Given the description of an element on the screen output the (x, y) to click on. 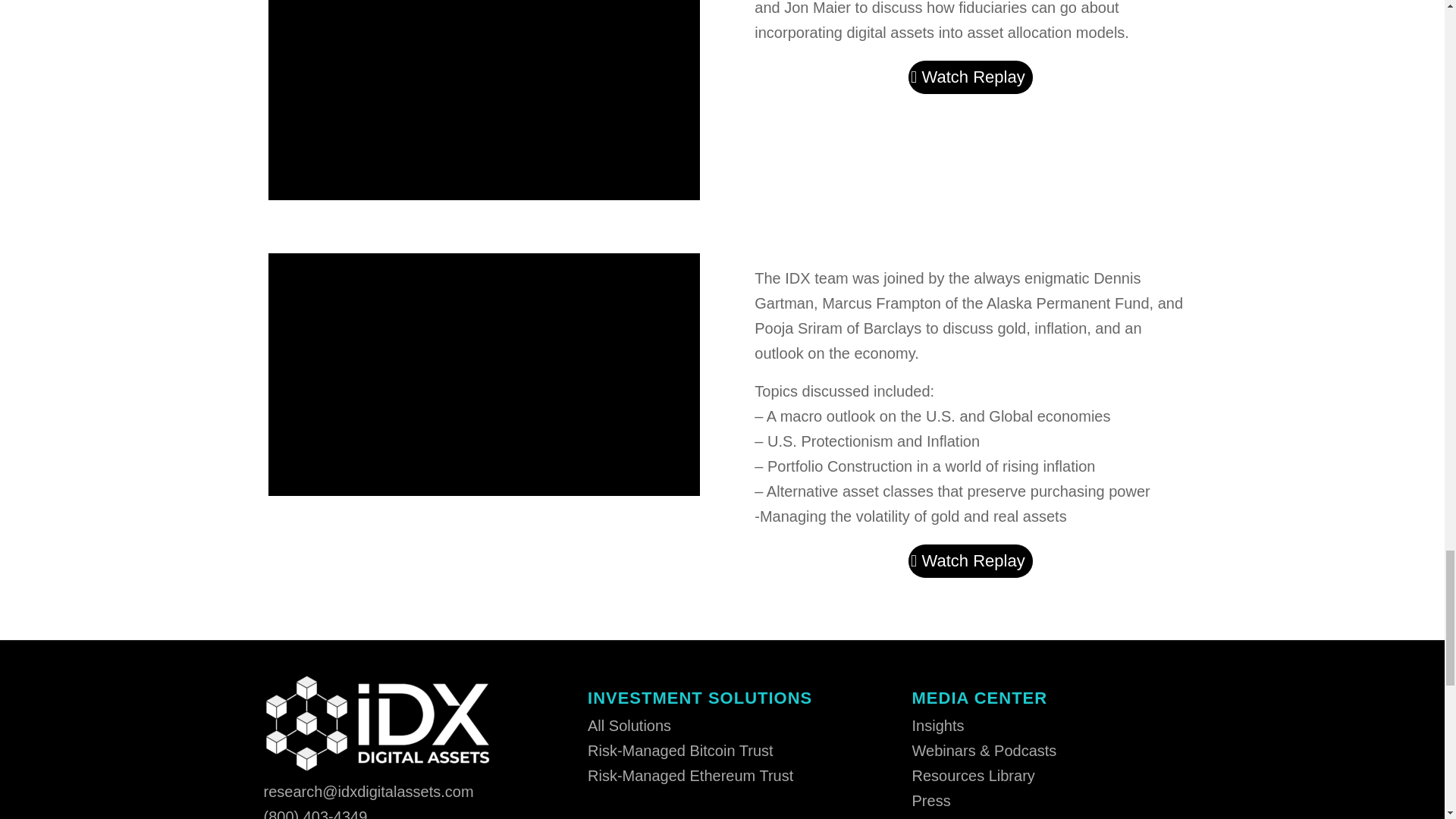
Watch Replay (970, 560)
Watch Replay (970, 76)
